Given the description of an element on the screen output the (x, y) to click on. 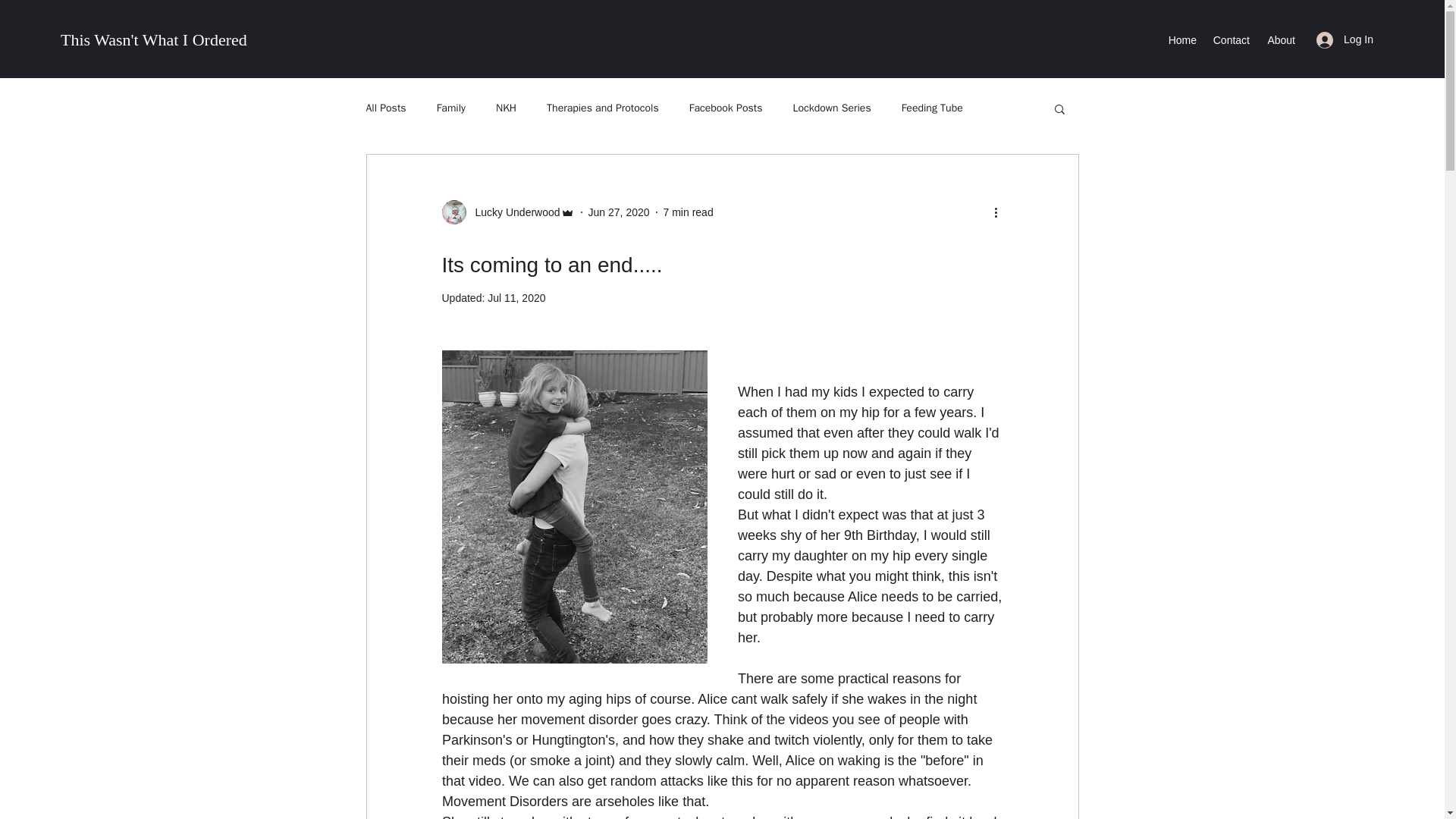
Lucky Underwood (507, 211)
NKH (506, 108)
About (1280, 39)
Home (1182, 39)
Contact (1230, 39)
Lockdown Series (831, 108)
Jul 11, 2020 (515, 297)
All Posts (385, 108)
Lucky Underwood (512, 212)
Facebook Posts (725, 108)
Therapies and Protocols (603, 108)
Feeding Tube (931, 108)
7 min read (688, 212)
Jun 27, 2020 (618, 212)
This Wasn't What I Ordered (154, 39)
